Given the description of an element on the screen output the (x, y) to click on. 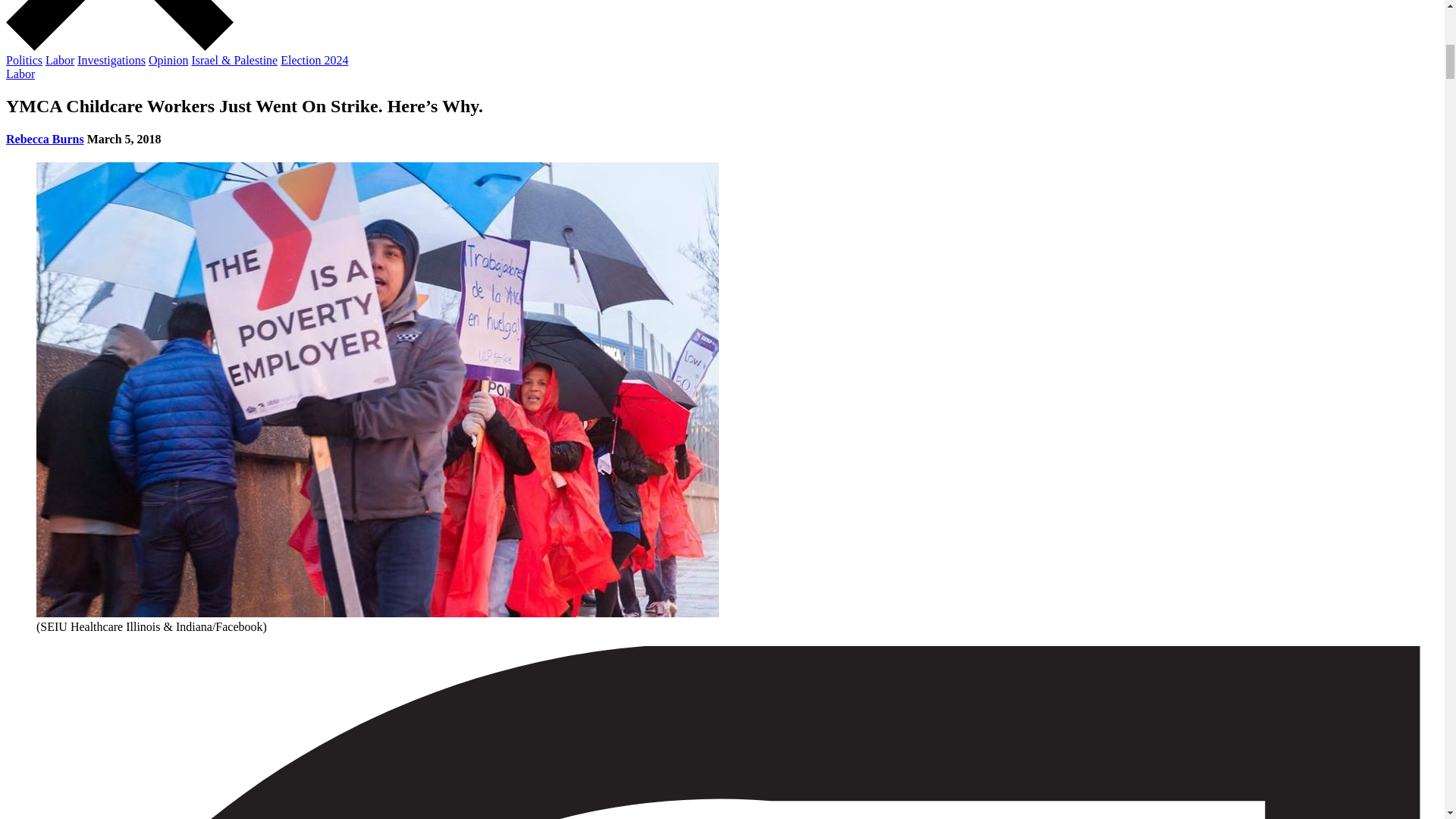
Election 2024 (314, 60)
Rebecca Burns (44, 138)
Investigations (111, 60)
close (118, 46)
Labor (59, 60)
Labor (19, 73)
Politics (23, 60)
Opinion (167, 60)
close (118, 25)
